Given the description of an element on the screen output the (x, y) to click on. 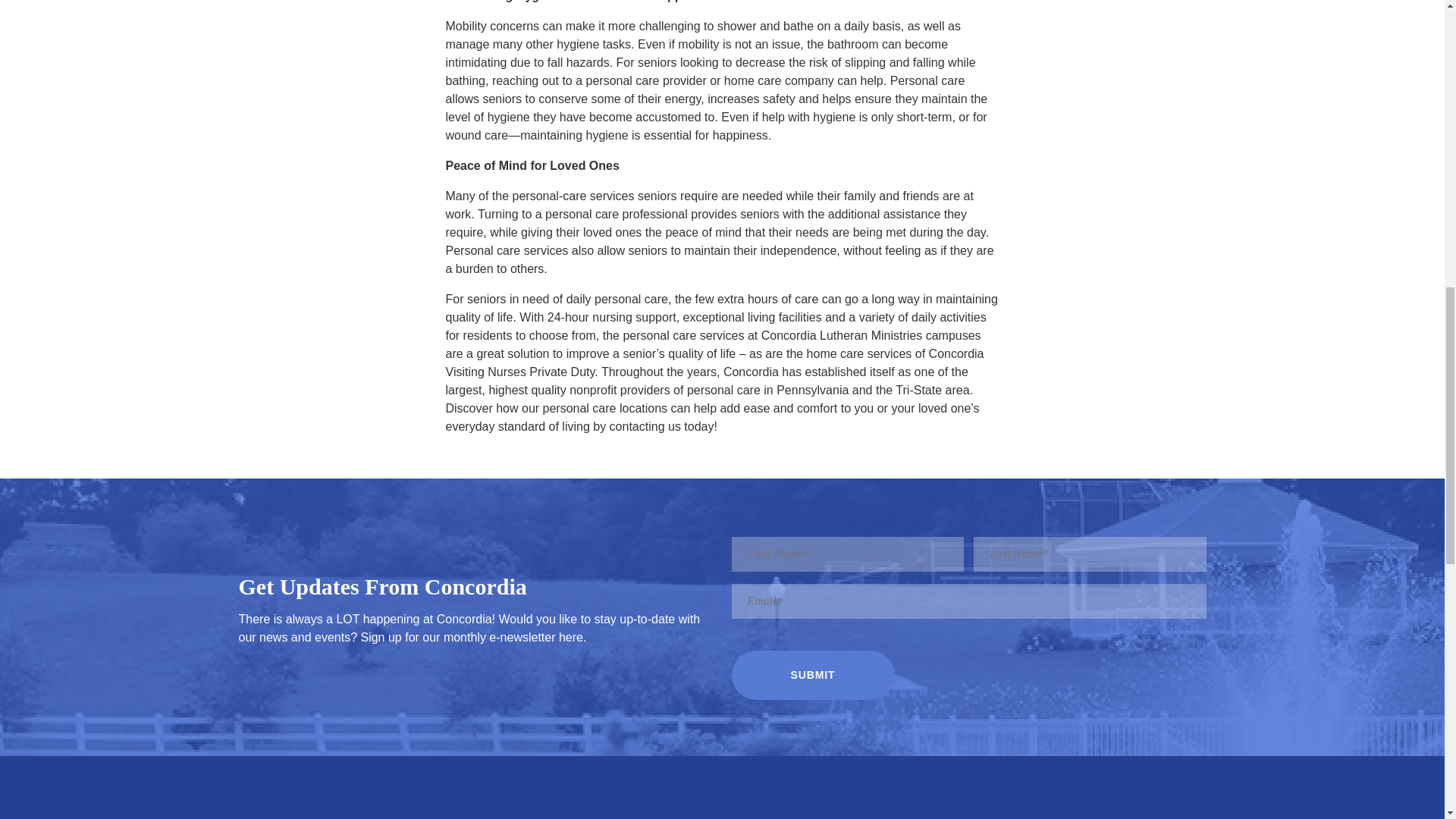
Submit (811, 675)
Submit (811, 675)
